Given the description of an element on the screen output the (x, y) to click on. 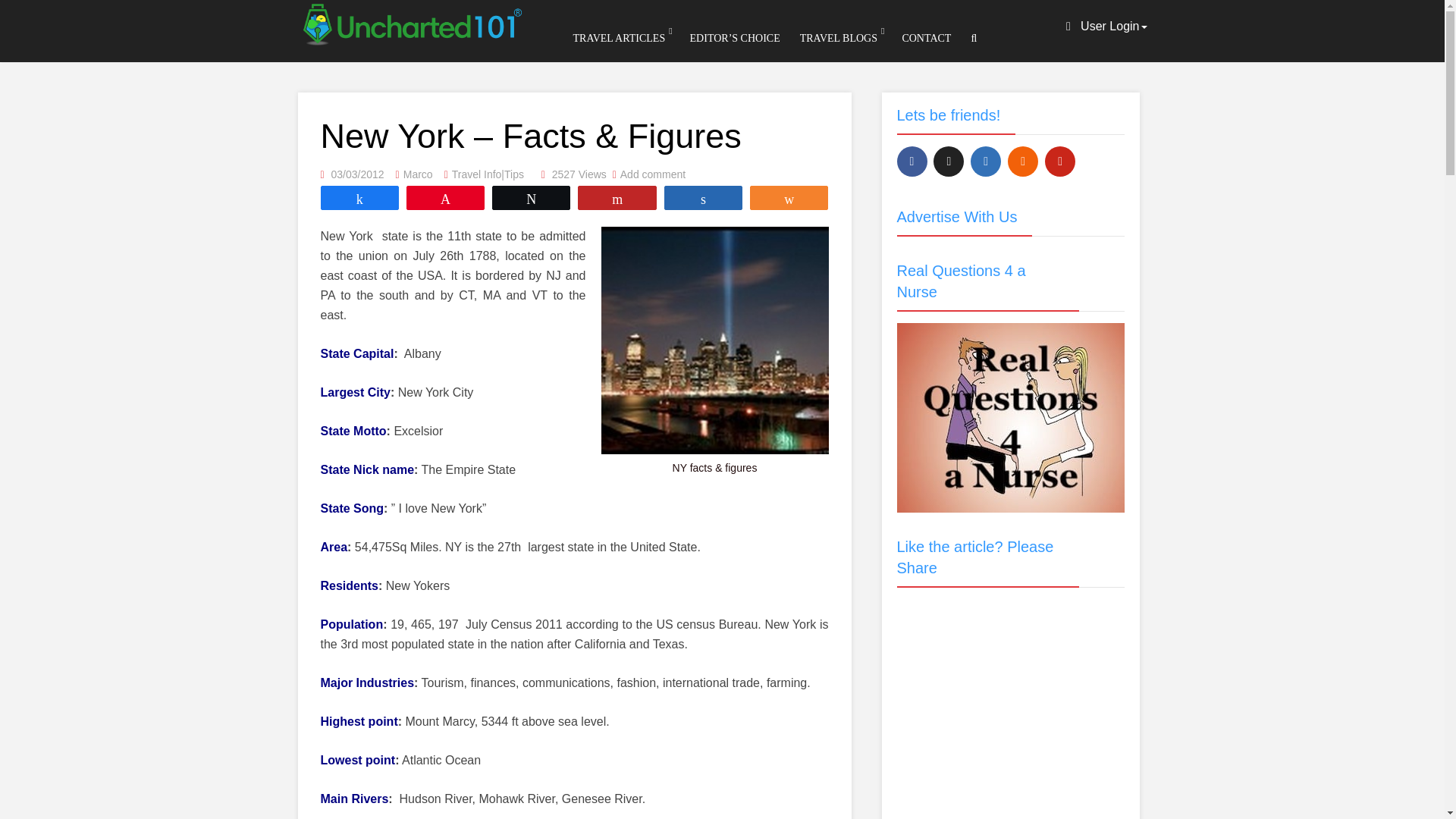
Marco (417, 174)
Facebook (911, 161)
  User Login (1106, 26)
TRAVEL ARTICLES (618, 38)
Uncharted101.com (410, 21)
Linkedin (986, 161)
TRAVEL BLOGS (838, 38)
Add comment (652, 174)
